Given the description of an element on the screen output the (x, y) to click on. 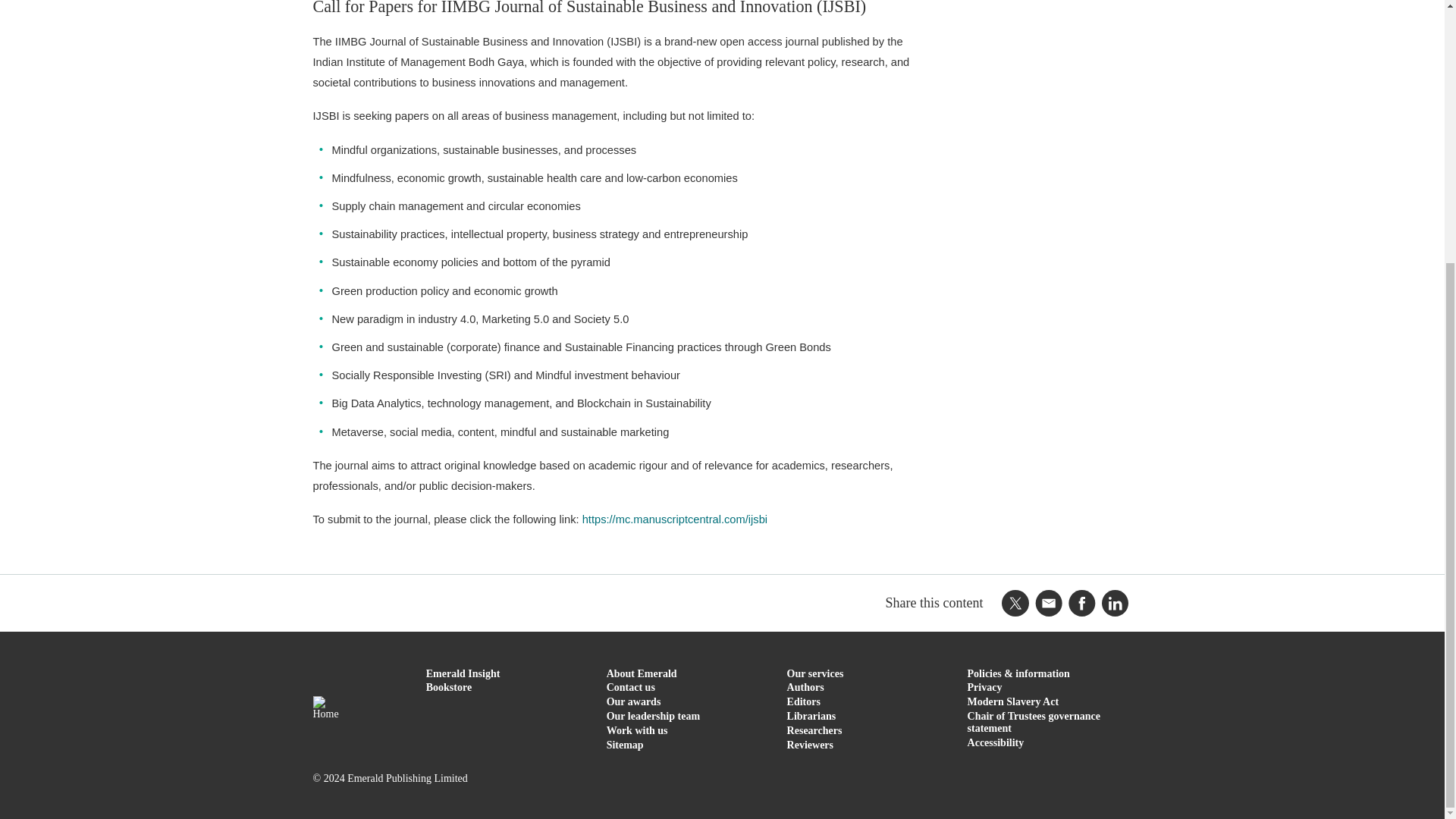
Privacy notice (985, 686)
Reviewers (809, 745)
Download PDF statement (1034, 721)
Editors (804, 701)
Modern Slavery Act (1013, 701)
Policies (1019, 673)
About us page (642, 673)
Contact Emerald (631, 686)
Researchers (815, 730)
Authors (805, 686)
